Given the description of an element on the screen output the (x, y) to click on. 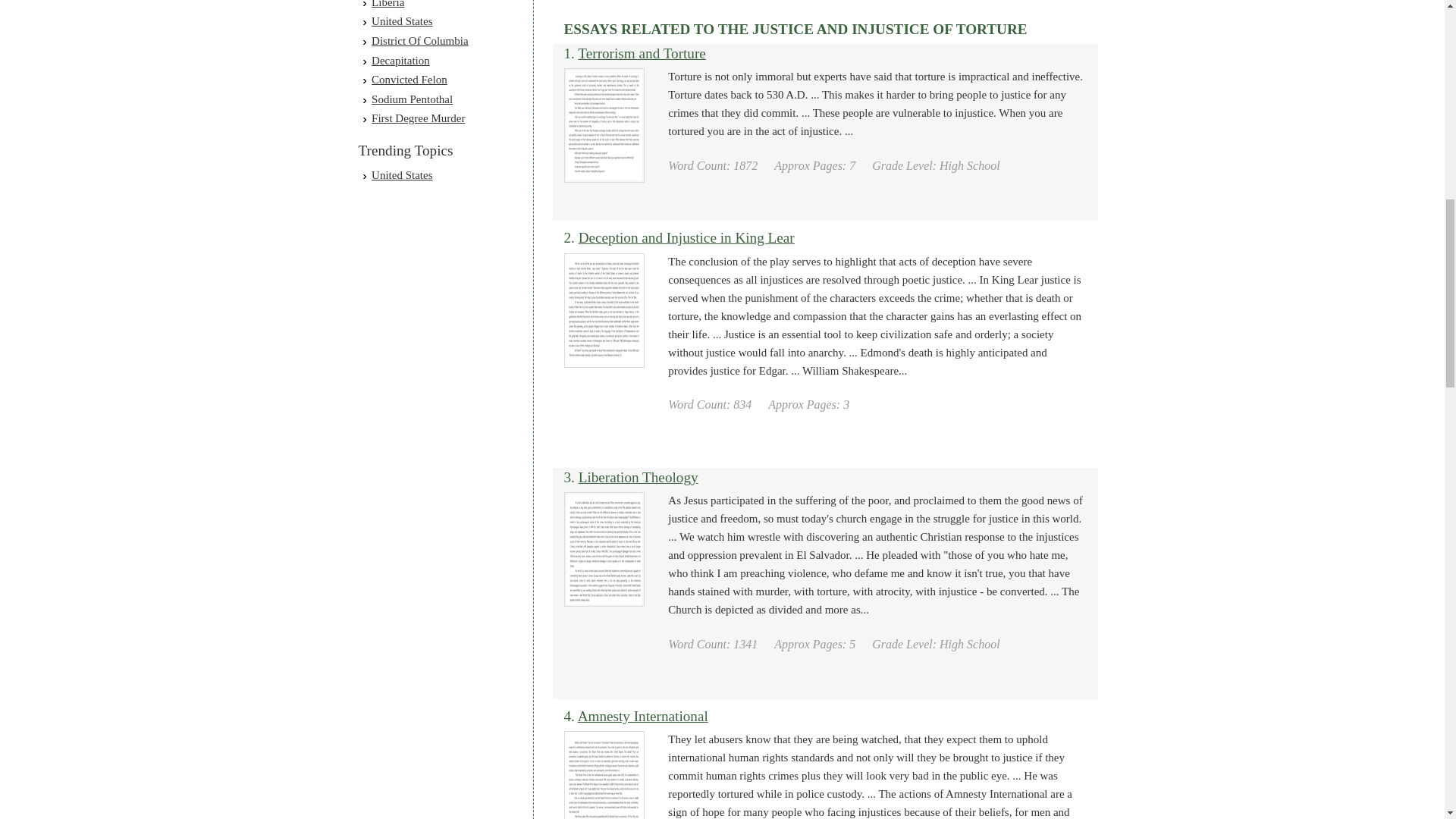
Decapitation (400, 60)
Liberia (387, 4)
United States (401, 174)
First Degree Murder (417, 118)
District Of Columbia (419, 40)
Sodium Pentothal (411, 99)
Terrorism and Torture (642, 53)
Convicted Felon (408, 79)
United States (401, 21)
